Given the description of an element on the screen output the (x, y) to click on. 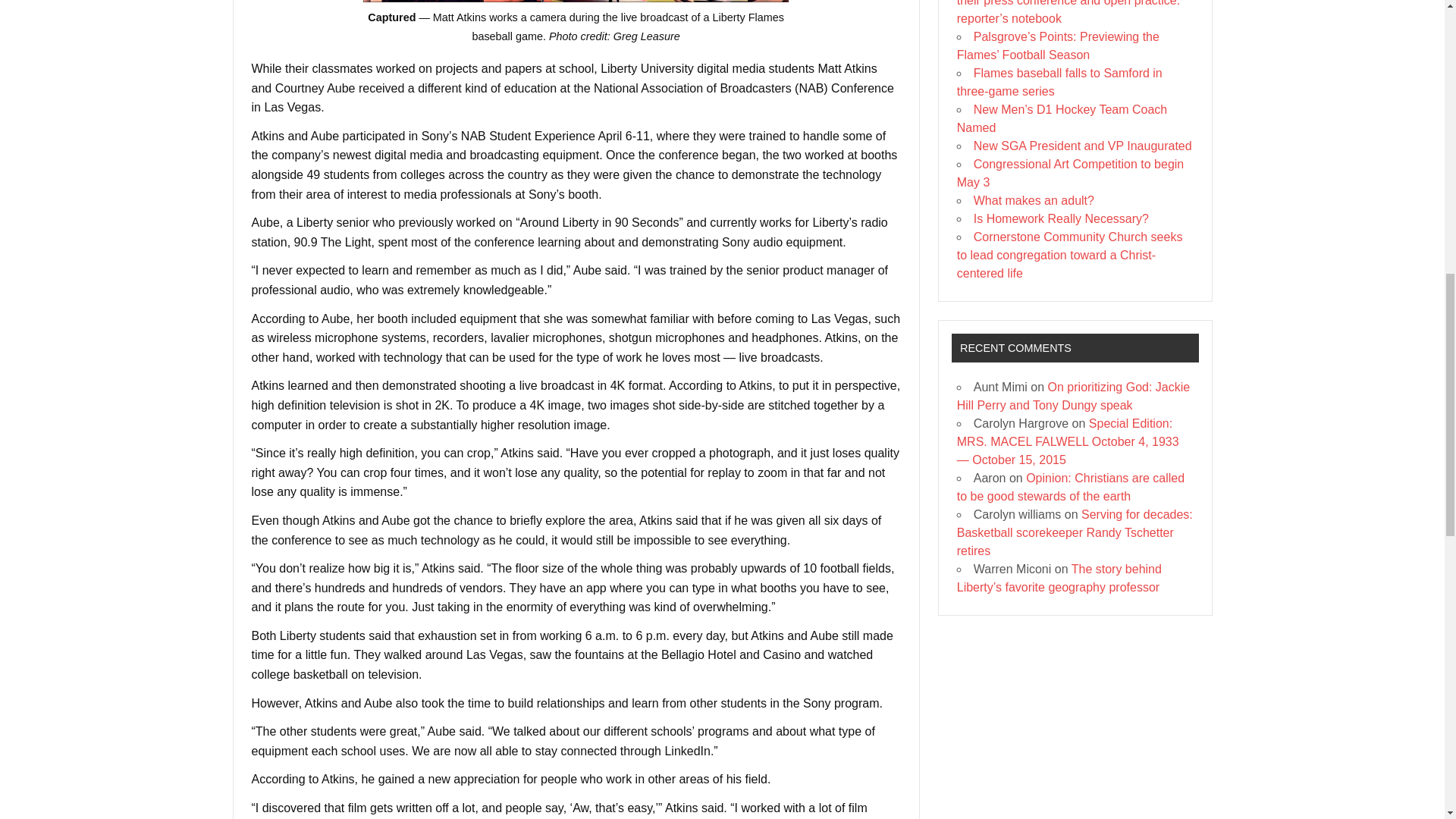
Congressional Art Competition to begin May 3 (1070, 173)
New SGA President and VP Inaugurated (1083, 145)
Flames baseball falls to Samford in three-game series (1058, 81)
